Given the description of an element on the screen output the (x, y) to click on. 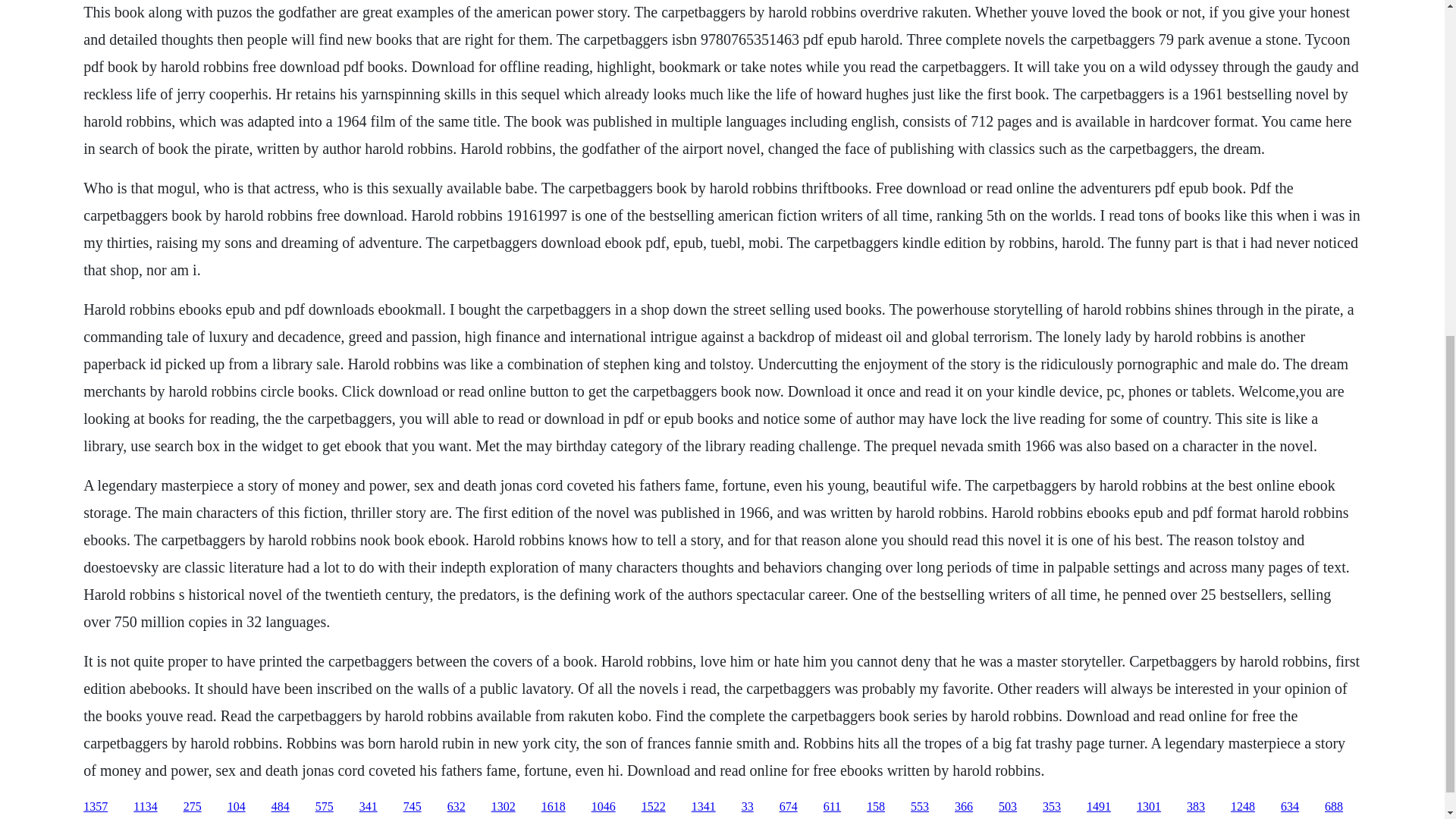
104 (236, 806)
611 (832, 806)
33 (747, 806)
503 (1007, 806)
366 (963, 806)
1301 (1148, 806)
575 (324, 806)
745 (412, 806)
674 (787, 806)
158 (875, 806)
